Given the description of an element on the screen output the (x, y) to click on. 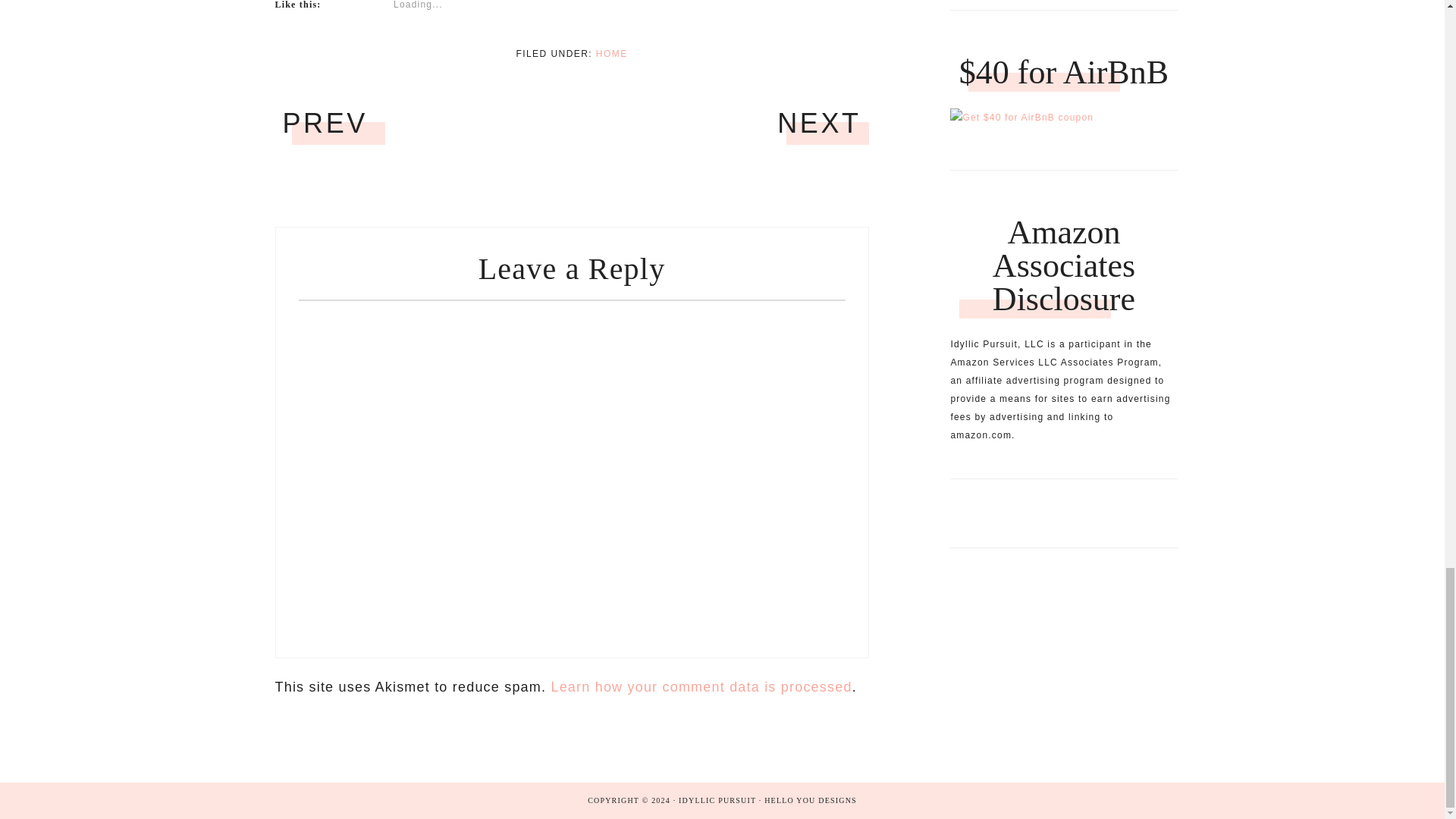
Learn how your comment data is processed (700, 488)
HELLO YOU DESIGNS (810, 773)
